Given the description of an element on the screen output the (x, y) to click on. 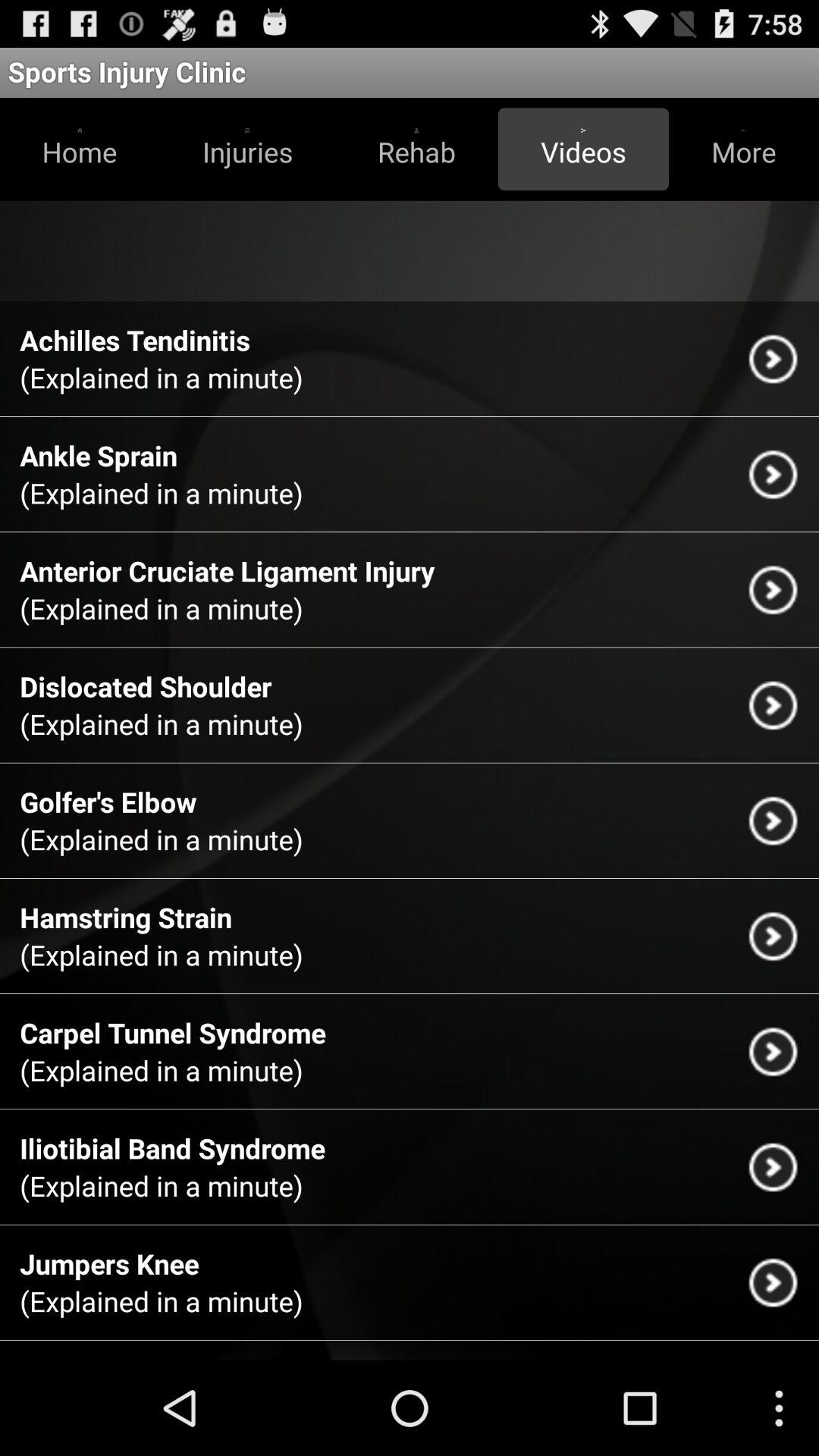
click jumpers knee app (109, 1263)
